Given the description of an element on the screen output the (x, y) to click on. 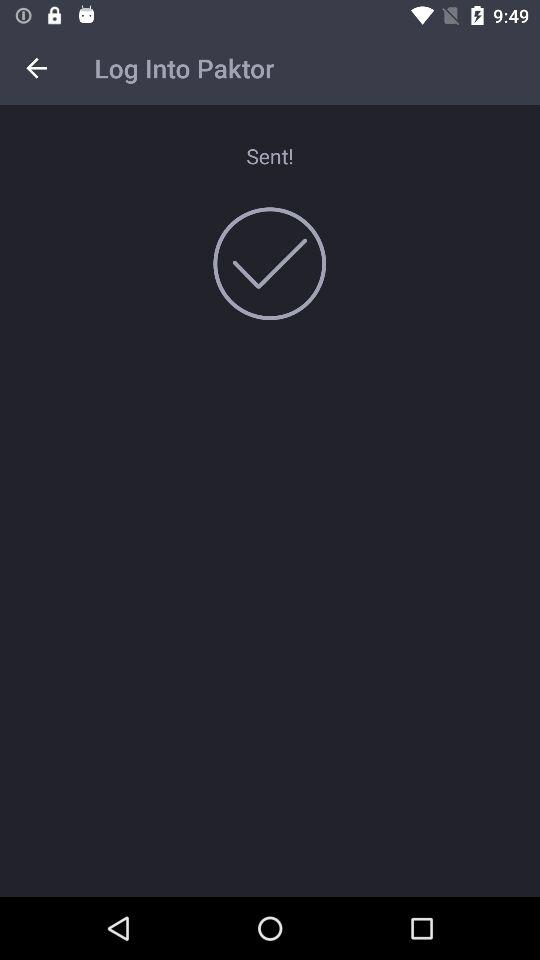
launch the item next to log into paktor item (36, 68)
